Given the description of an element on the screen output the (x, y) to click on. 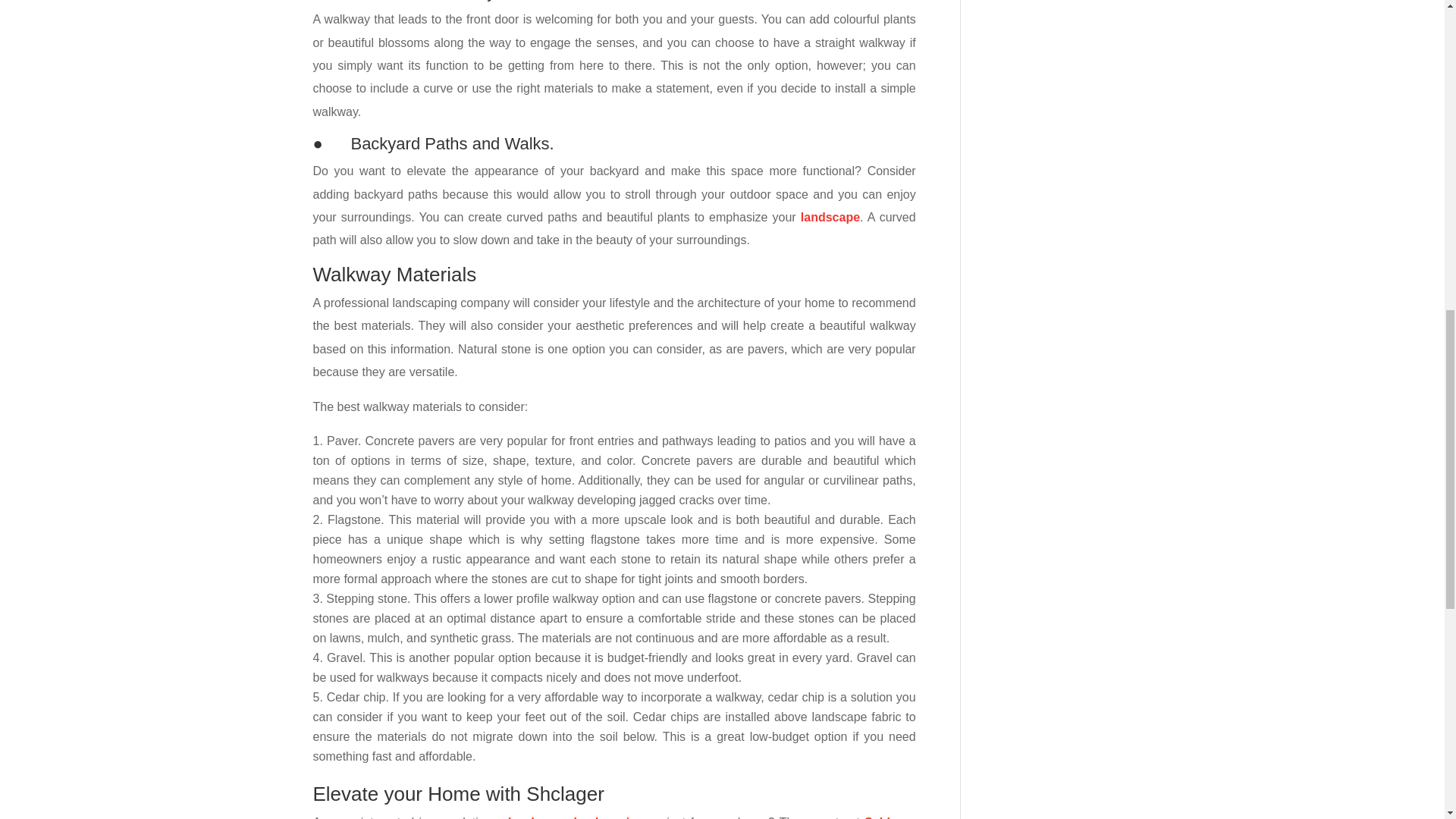
landscape (830, 192)
hardscape landscaping (576, 797)
